Given the description of an element on the screen output the (x, y) to click on. 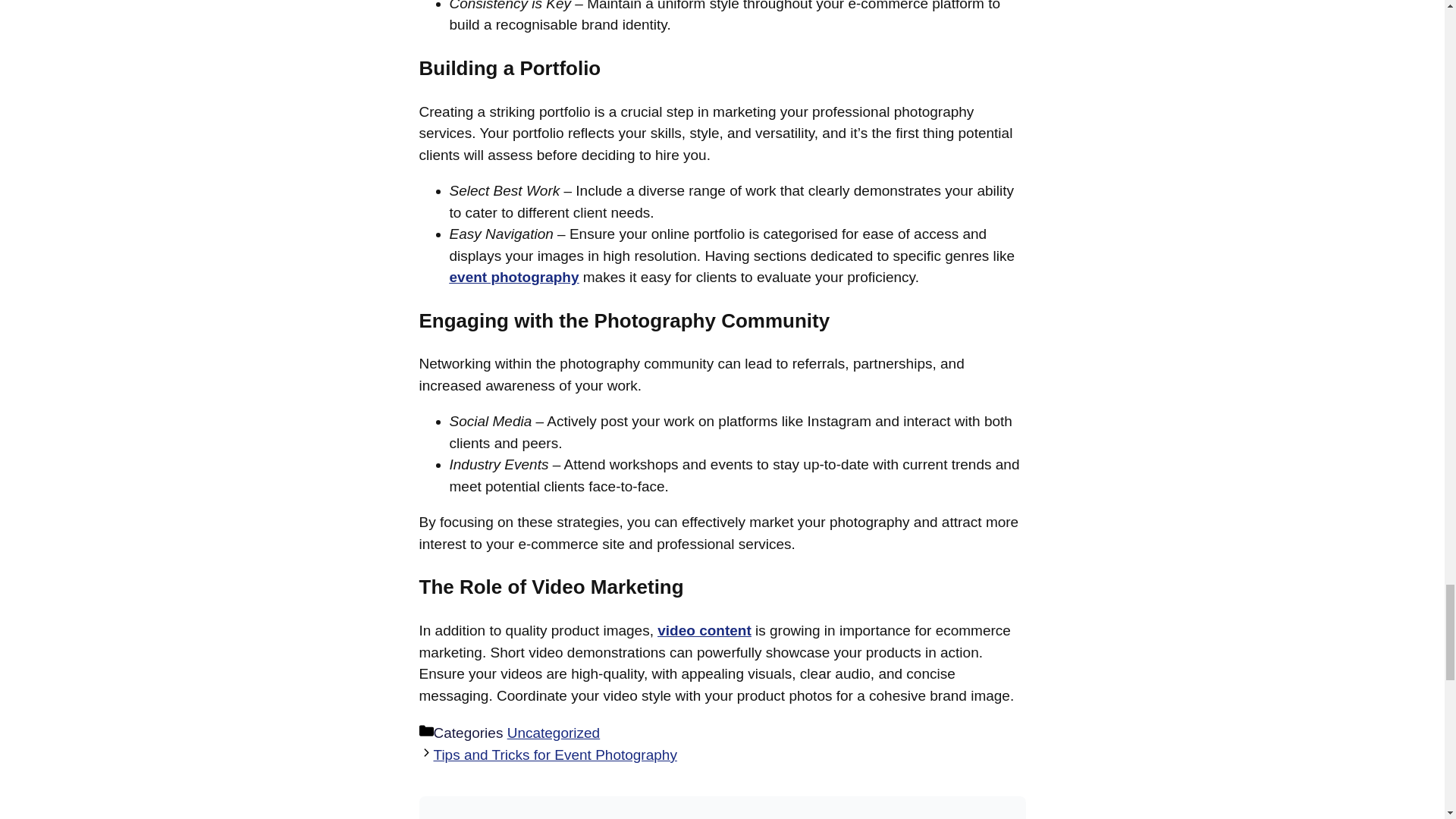
video content (704, 630)
Uncategorized (552, 732)
event photography (513, 277)
Tips and Tricks for Event Photography (555, 754)
